Given the description of an element on the screen output the (x, y) to click on. 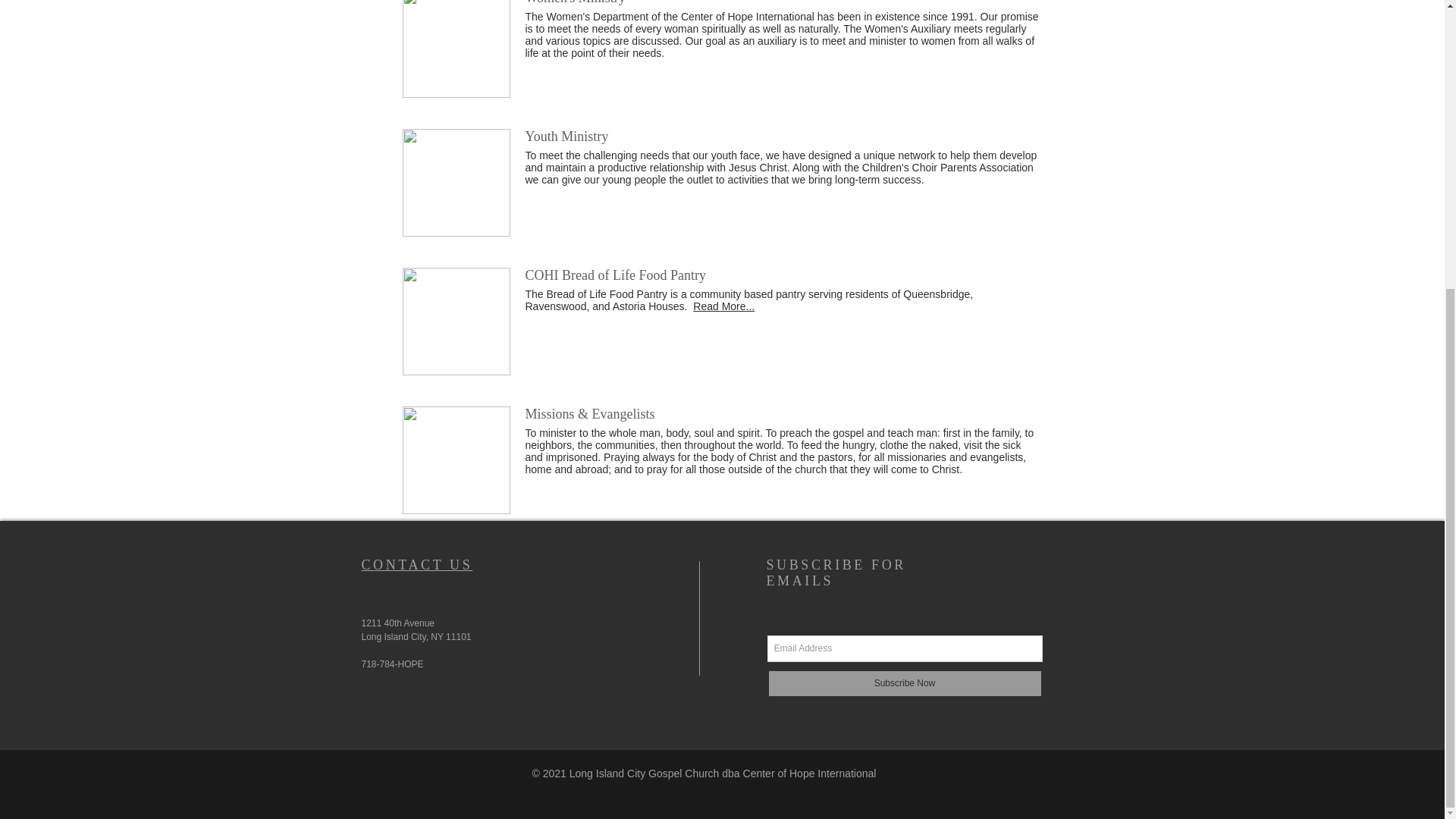
CONTACT US (416, 564)
Subscribe Now (904, 683)
Read More... (723, 306)
